Given the description of an element on the screen output the (x, y) to click on. 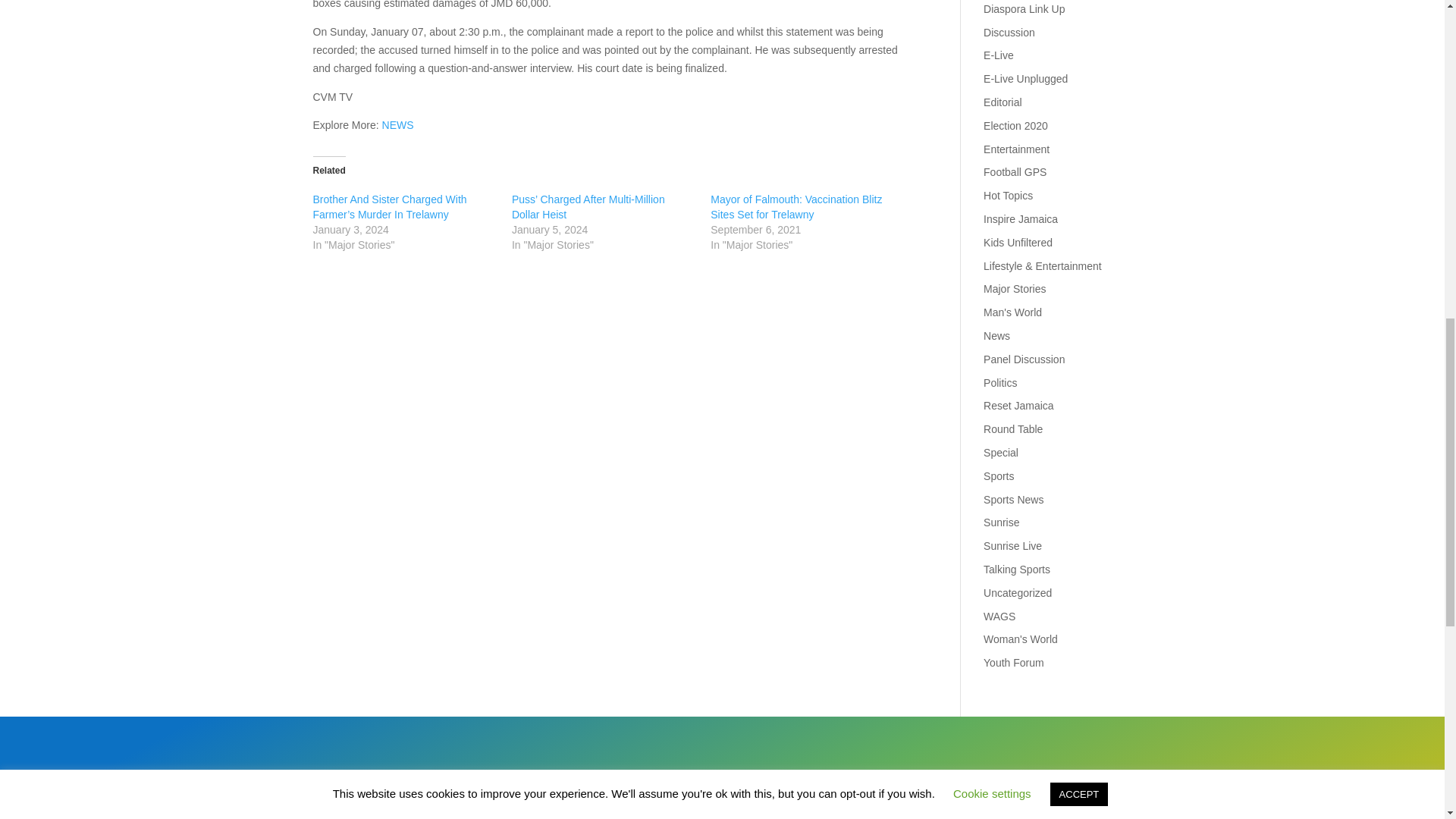
Mayor of Falmouth: Vaccination Blitz Sites Set for Trelawny (796, 206)
E-Live (998, 55)
Inspire Jamaica (1021, 218)
NEWS (397, 124)
Election 2020 (1016, 125)
Diaspora Link Up (1024, 9)
Mayor of Falmouth: Vaccination Blitz Sites Set for Trelawny (796, 206)
Hot Topics (1008, 195)
Discussion (1009, 32)
E-Live Unplugged (1025, 78)
